Given the description of an element on the screen output the (x, y) to click on. 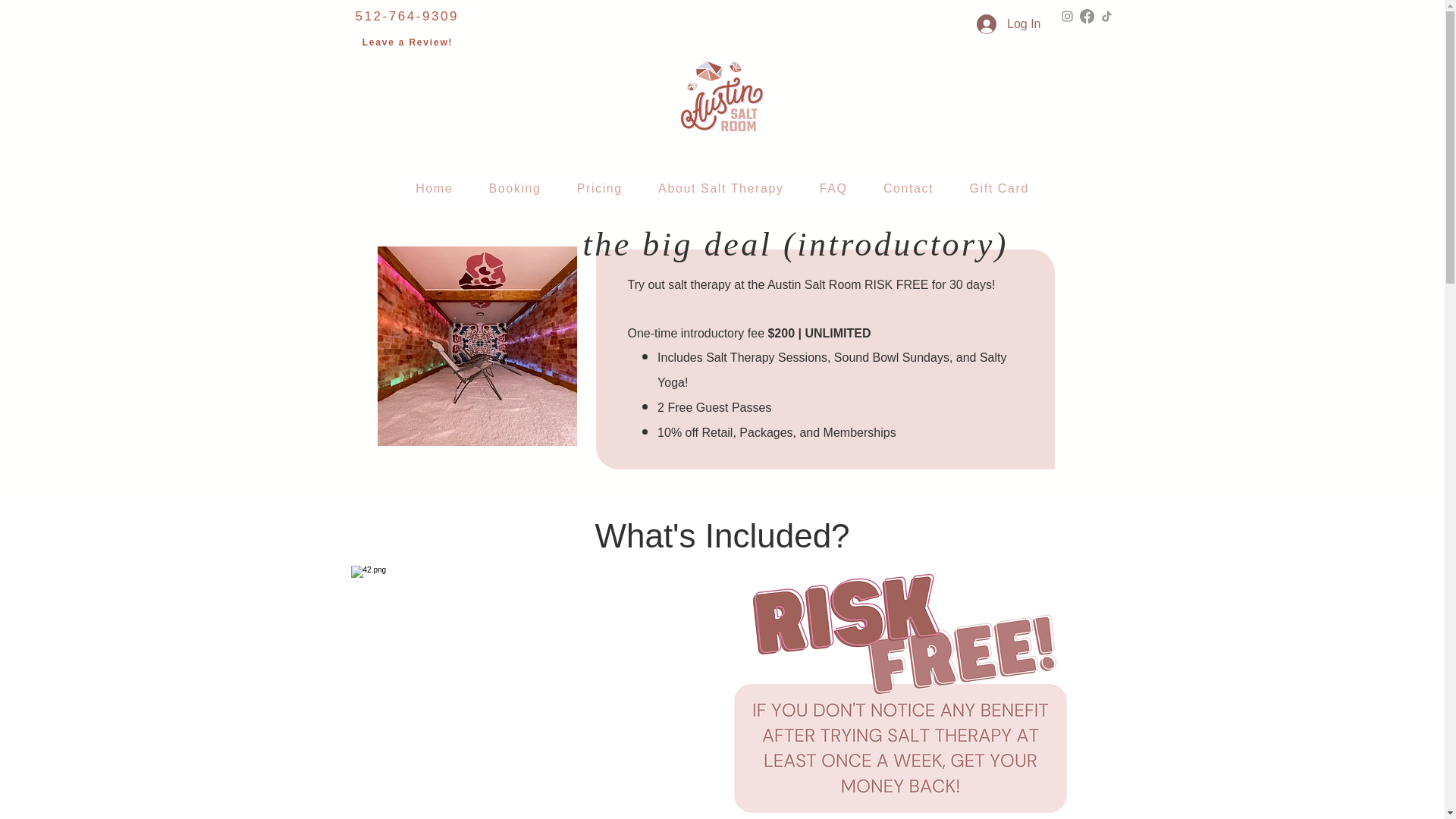
Contact (908, 189)
Leave a Review! (407, 42)
Gift Card (999, 189)
Pricing (599, 189)
FAQ (833, 189)
Log In (1008, 23)
About Salt Therapy (720, 189)
512-764-9309 (406, 16)
Booking (515, 189)
Home (433, 189)
